Given the description of an element on the screen output the (x, y) to click on. 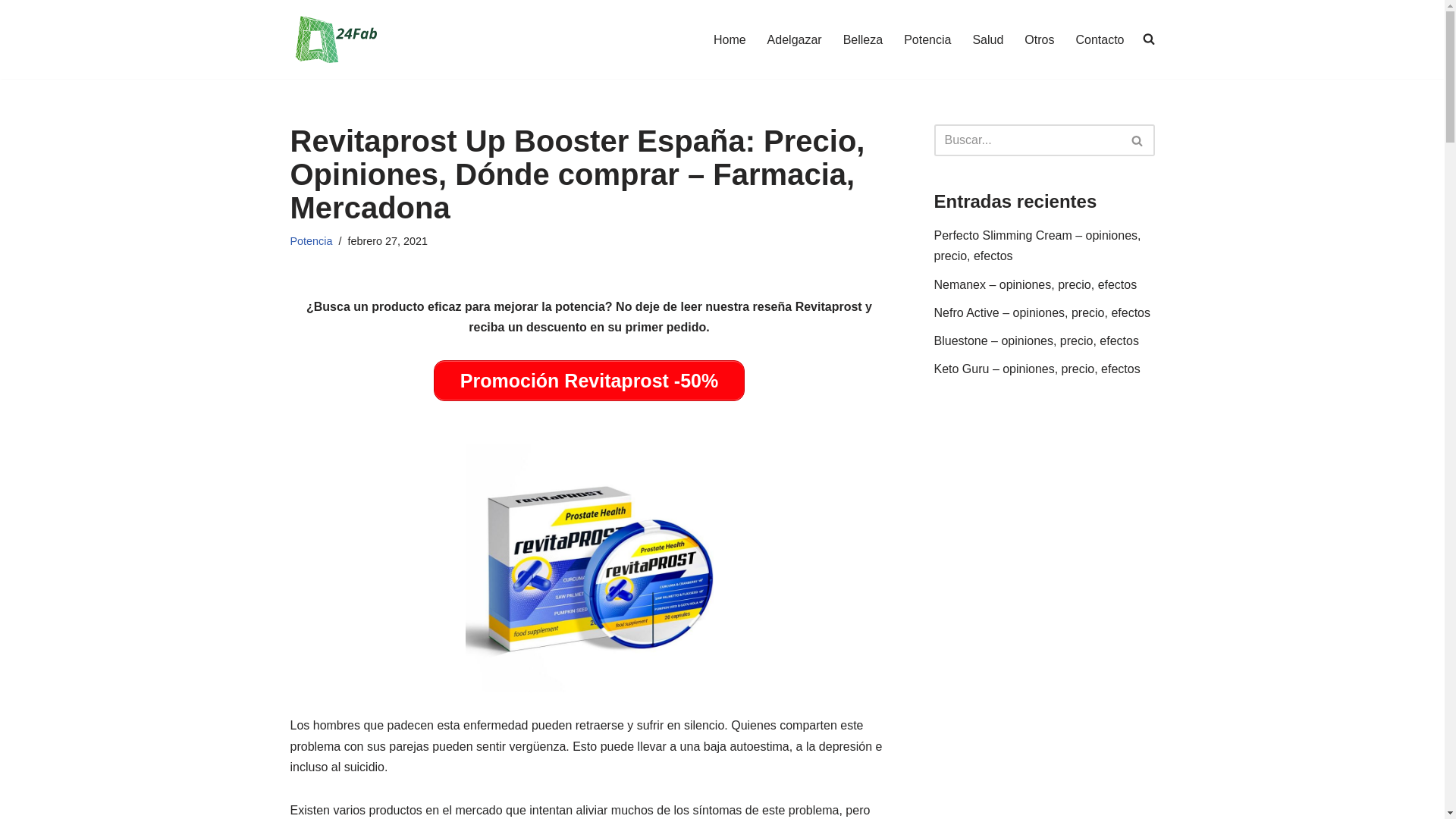
Salud Element type: text (987, 39)
Home Element type: text (729, 39)
Contacto Element type: text (1099, 39)
Potencia Element type: text (926, 39)
Otros Element type: text (1039, 39)
Potencia Element type: text (310, 241)
Adelgazar Element type: text (794, 39)
Saltar al contenido Element type: text (11, 31)
Belleza Element type: text (862, 39)
